Given the description of an element on the screen output the (x, y) to click on. 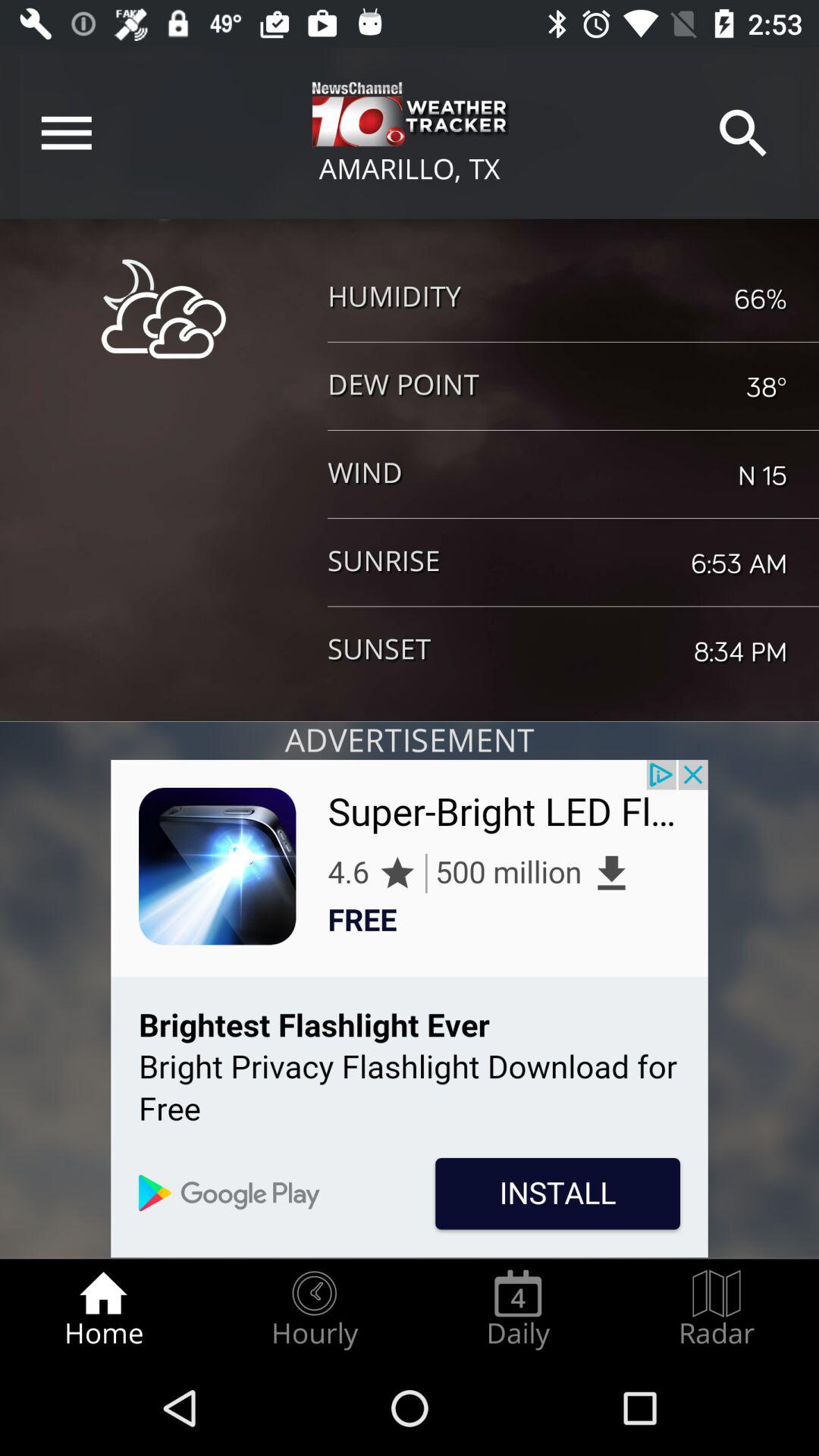
flip to the radar radio button (716, 1309)
